Given the description of an element on the screen output the (x, y) to click on. 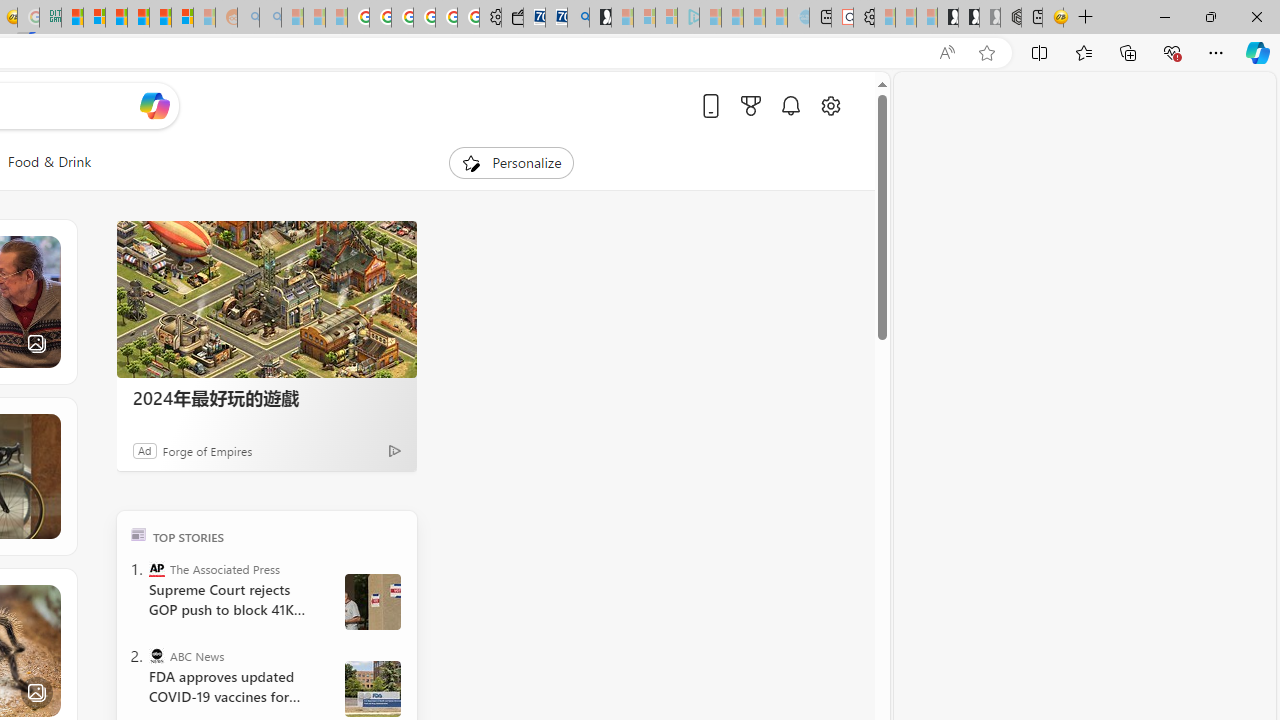
Bike Gurus (136, 476)
